Given the description of an element on the screen output the (x, y) to click on. 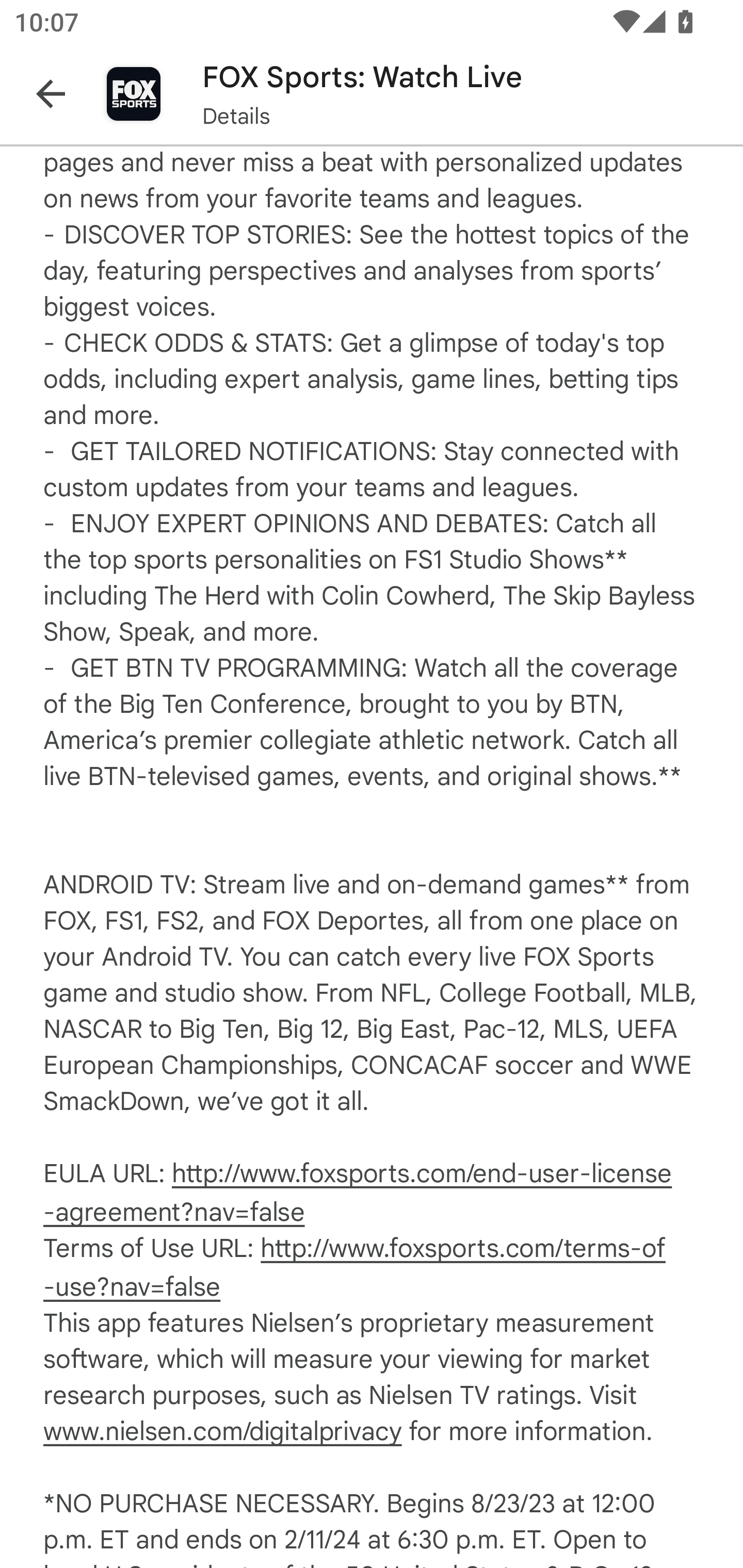
Navigate up (50, 93)
